Given the description of an element on the screen output the (x, y) to click on. 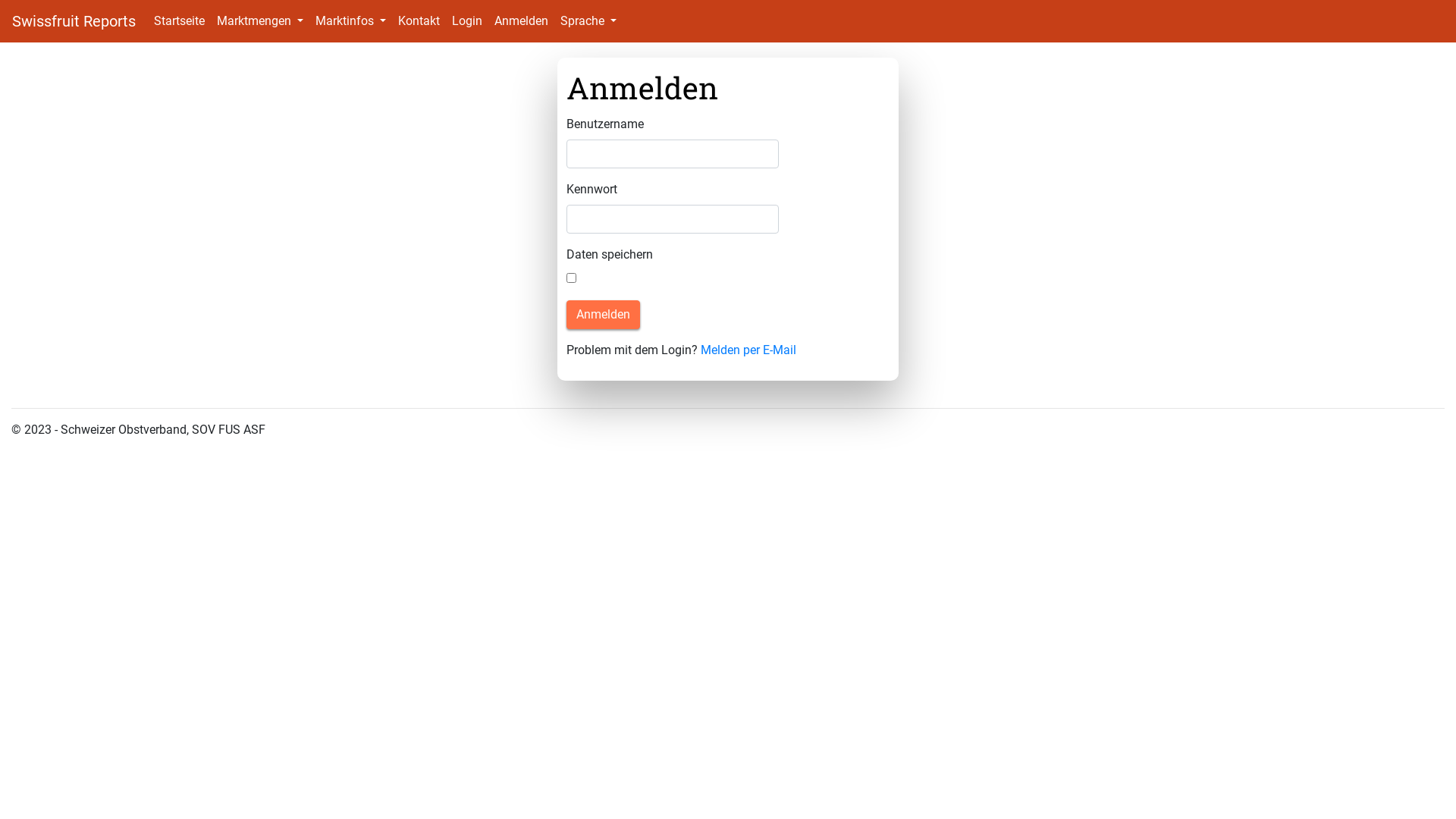
Kontakt Element type: text (418, 21)
Login Element type: text (466, 21)
Sprache Element type: text (588, 21)
Melden per E-Mail Element type: text (748, 349)
Marktinfos Element type: text (350, 21)
Startseite Element type: text (178, 21)
Marktmengen Element type: text (259, 21)
Anmelden Element type: text (521, 21)
Anmelden Element type: text (603, 314)
Swissfruit Reports Element type: text (73, 21)
